Given the description of an element on the screen output the (x, y) to click on. 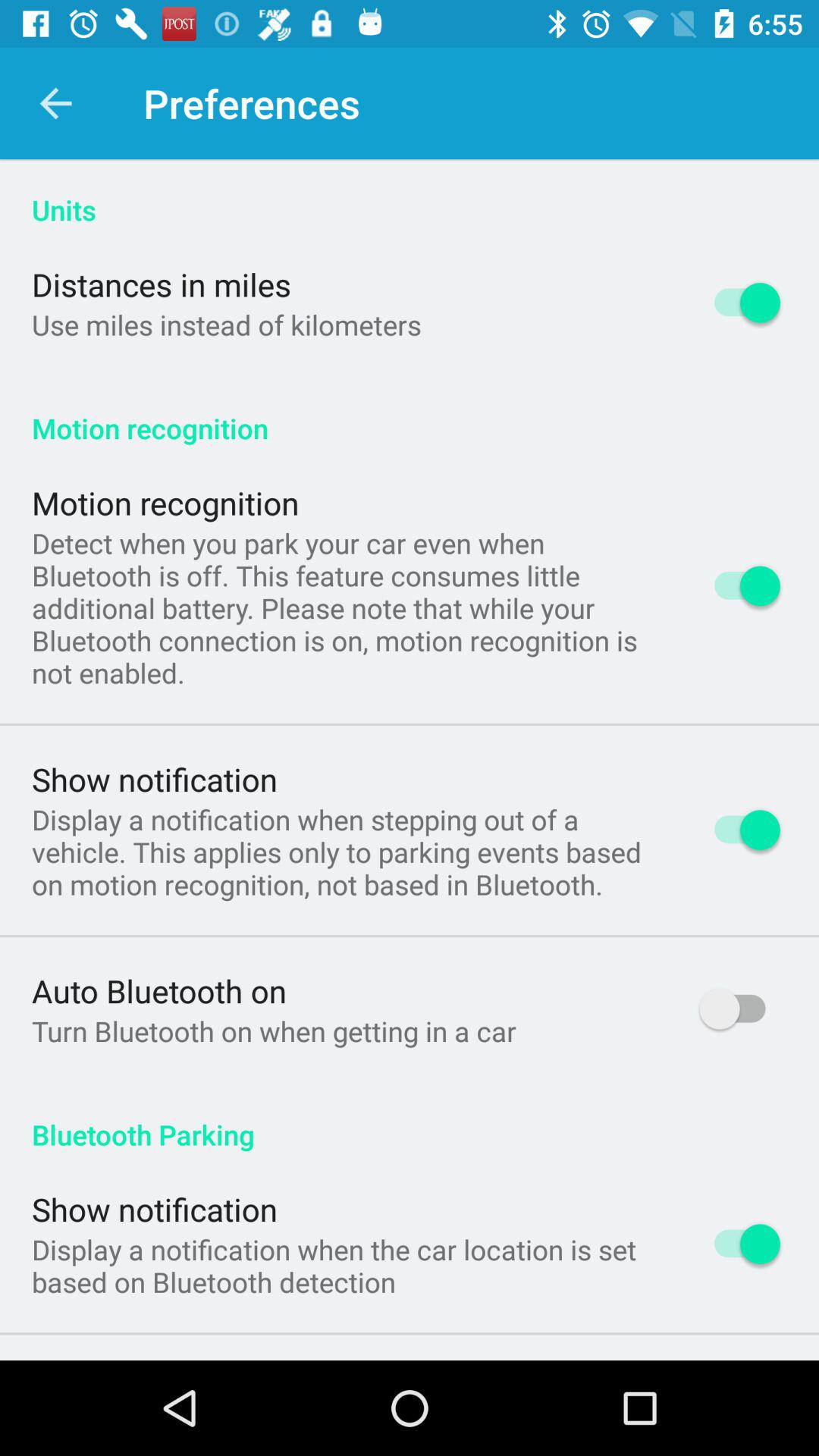
click the item next to preferences (55, 103)
